Given the description of an element on the screen output the (x, y) to click on. 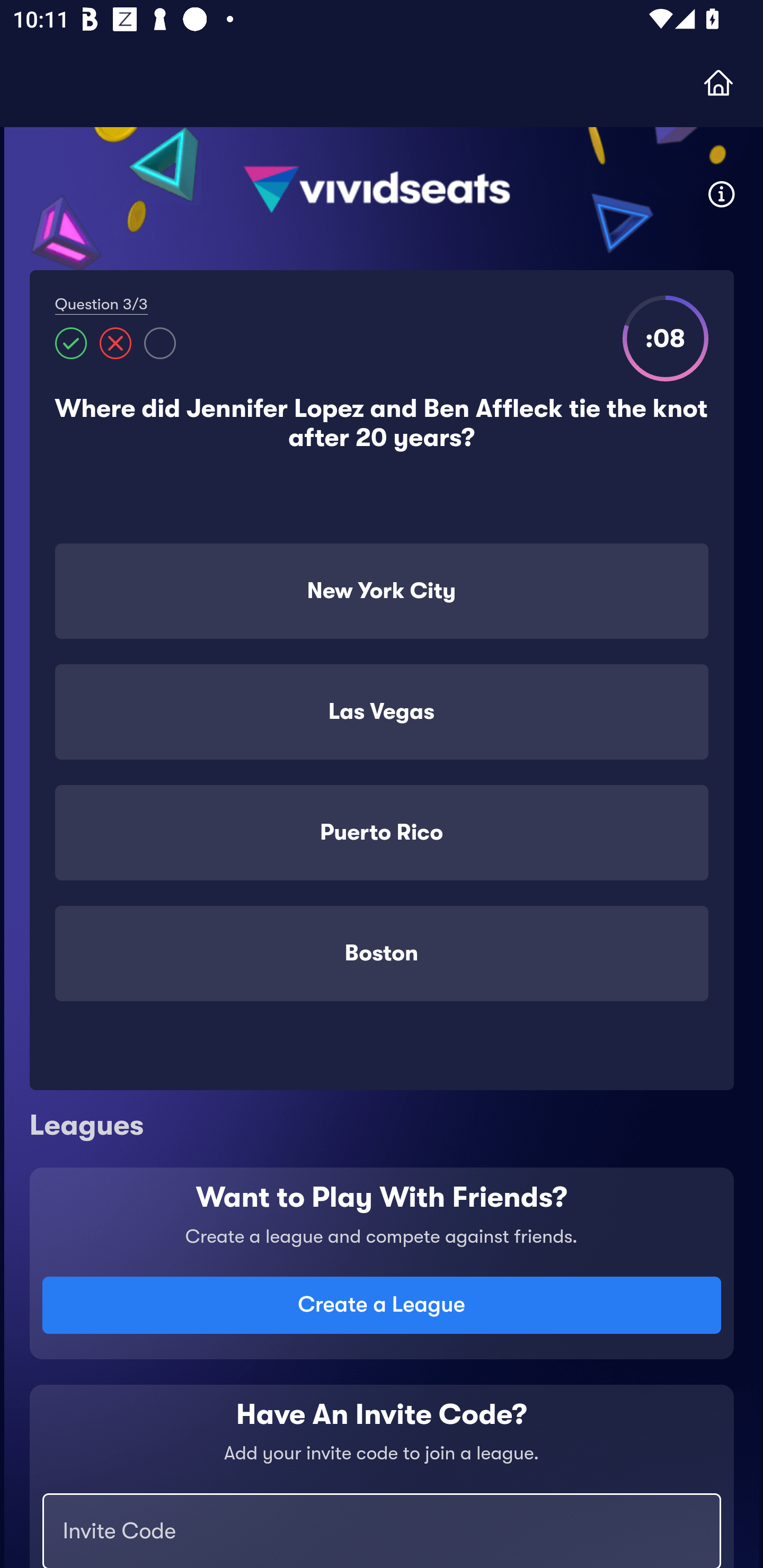
New York City (381, 591)
Las Vegas (381, 711)
Puerto Rico (381, 832)
Boston (381, 953)
Create a League (381, 1305)
